Given the description of an element on the screen output the (x, y) to click on. 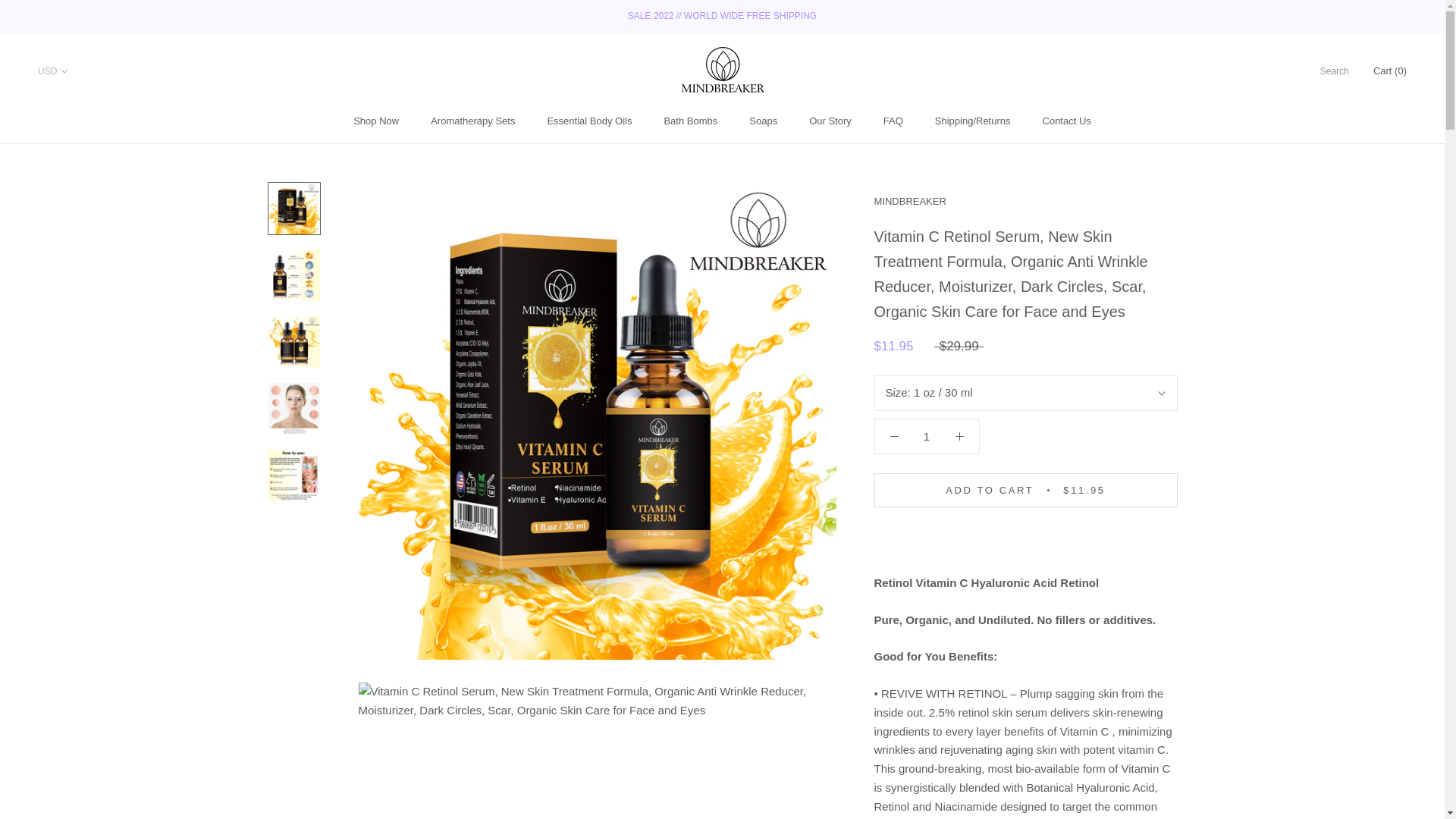
Currency selector (52, 71)
1 (925, 436)
Search (690, 120)
